Given the description of an element on the screen output the (x, y) to click on. 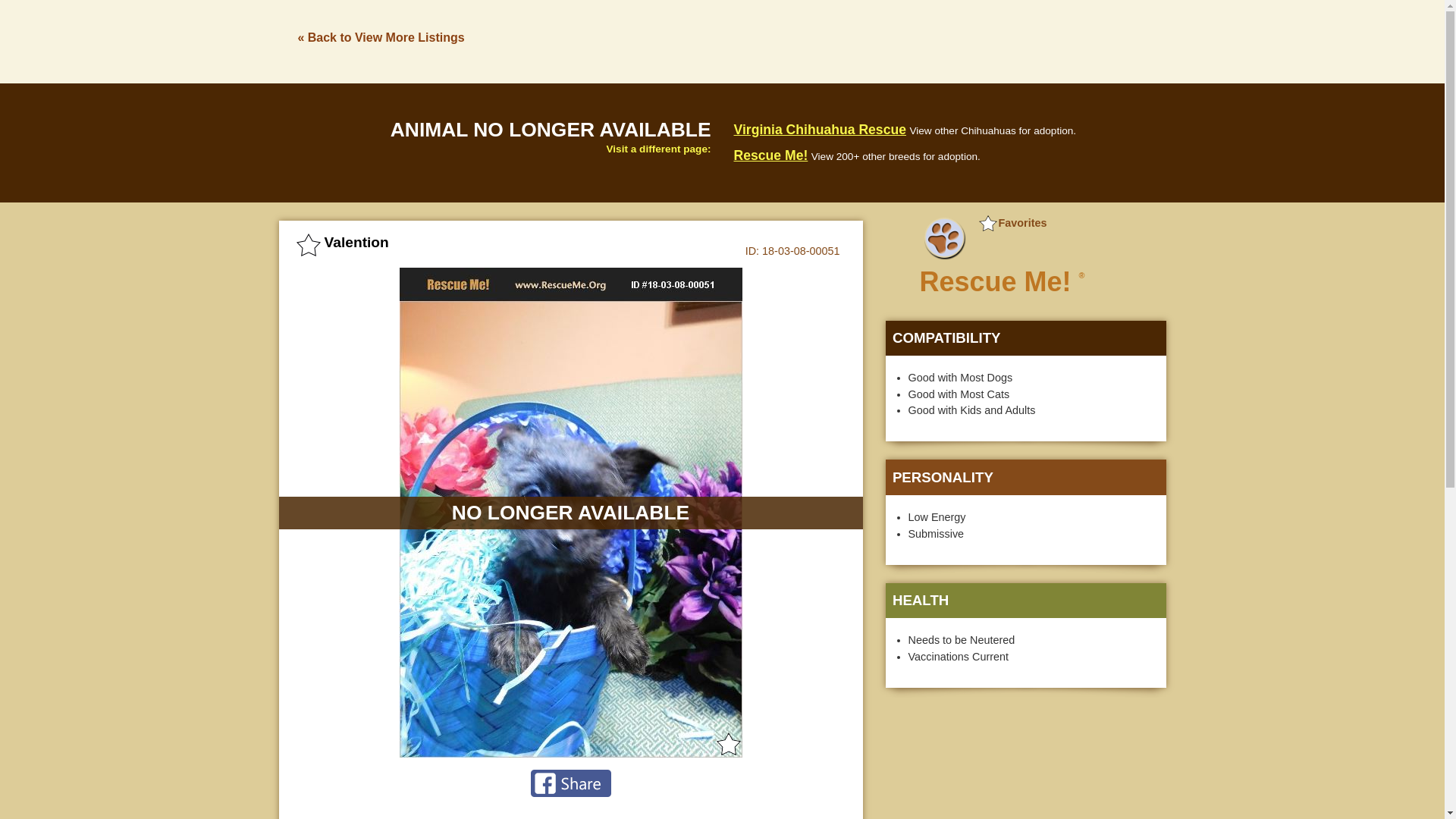
Favorites (1011, 223)
Advertisement (1025, 762)
Rescue Me! (770, 155)
Virginia Chihuahua Rescue (819, 129)
Advertisement (890, 39)
